Given the description of an element on the screen output the (x, y) to click on. 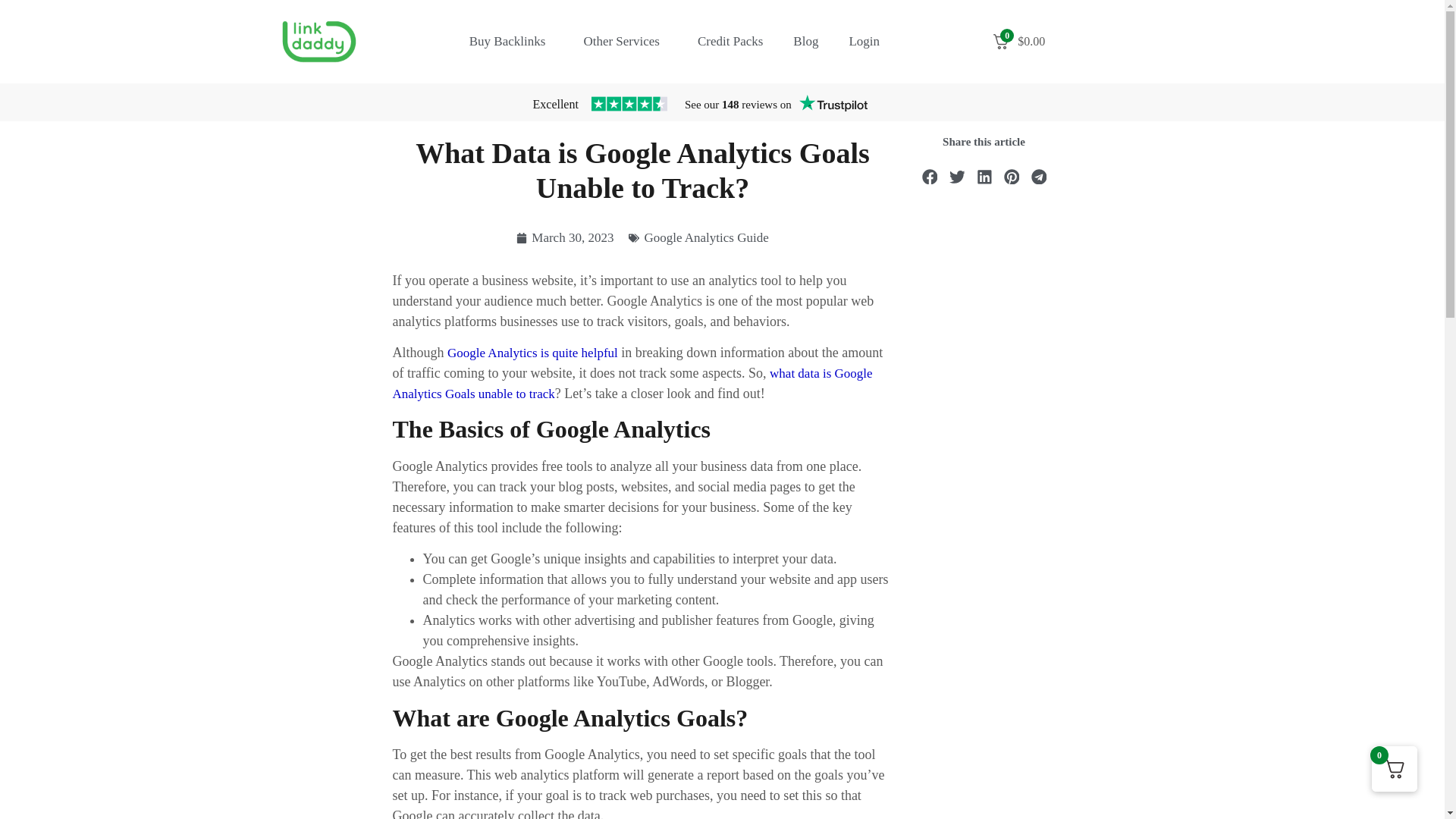
Credit Packs (729, 41)
Login (863, 41)
Buy Backlinks (511, 41)
Blog (804, 41)
Other Services (624, 41)
